Given the description of an element on the screen output the (x, y) to click on. 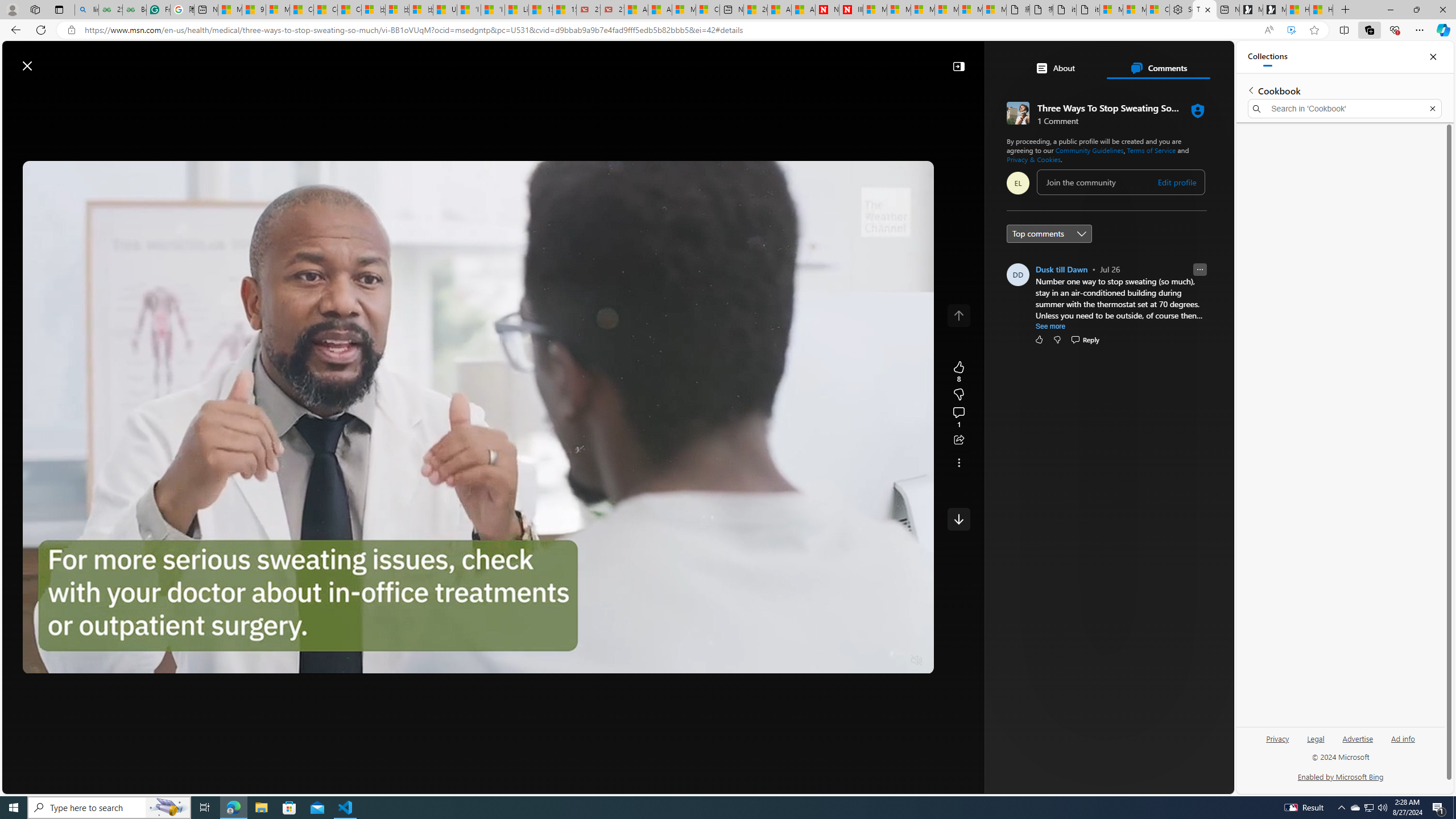
Terms of Service (1151, 149)
